Given the description of an element on the screen output the (x, y) to click on. 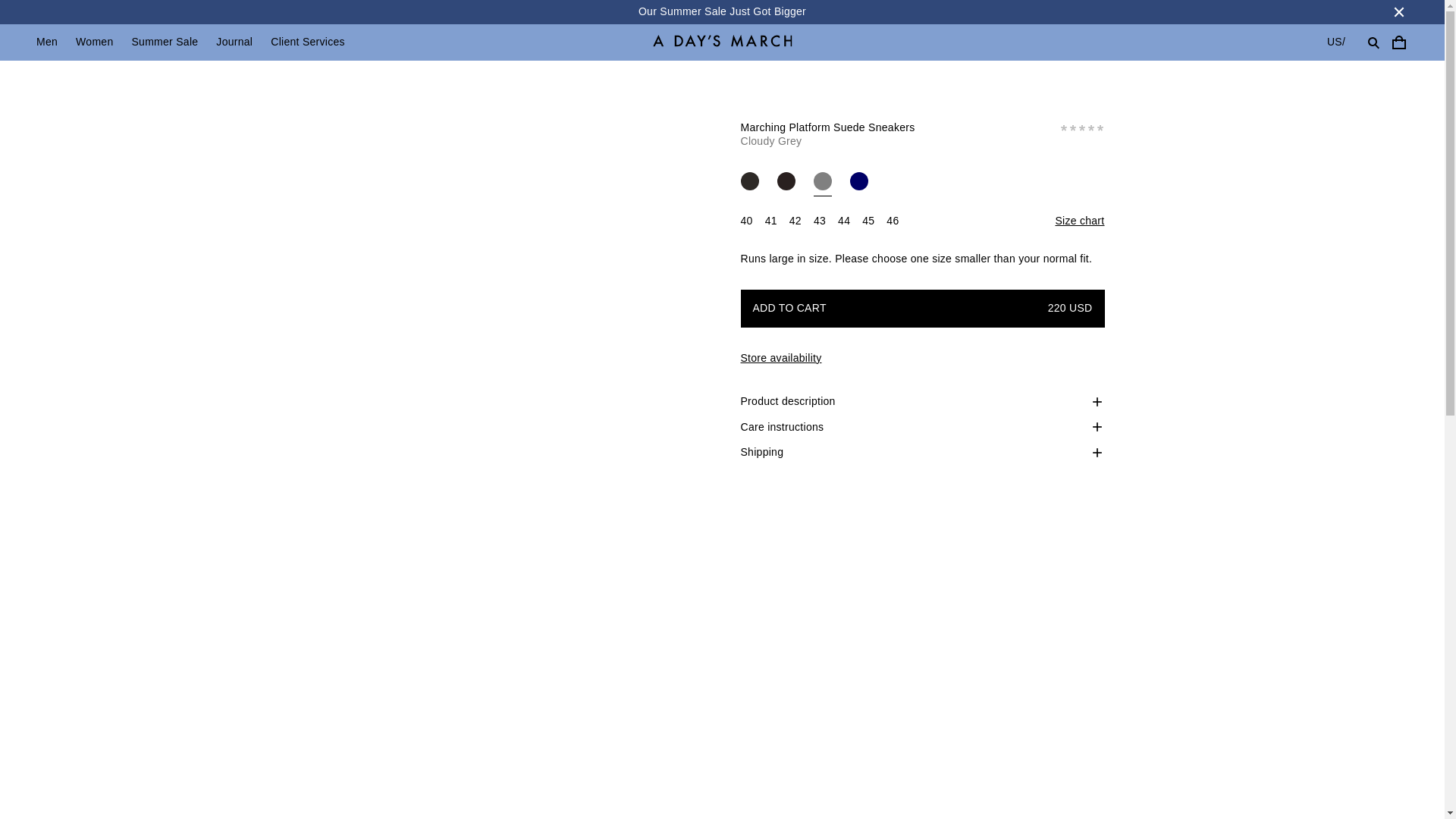
Men (47, 42)
Black (748, 180)
Cloudy Grey (821, 180)
Chocolate (785, 180)
Women (94, 42)
Navy (857, 180)
